Given the description of an element on the screen output the (x, y) to click on. 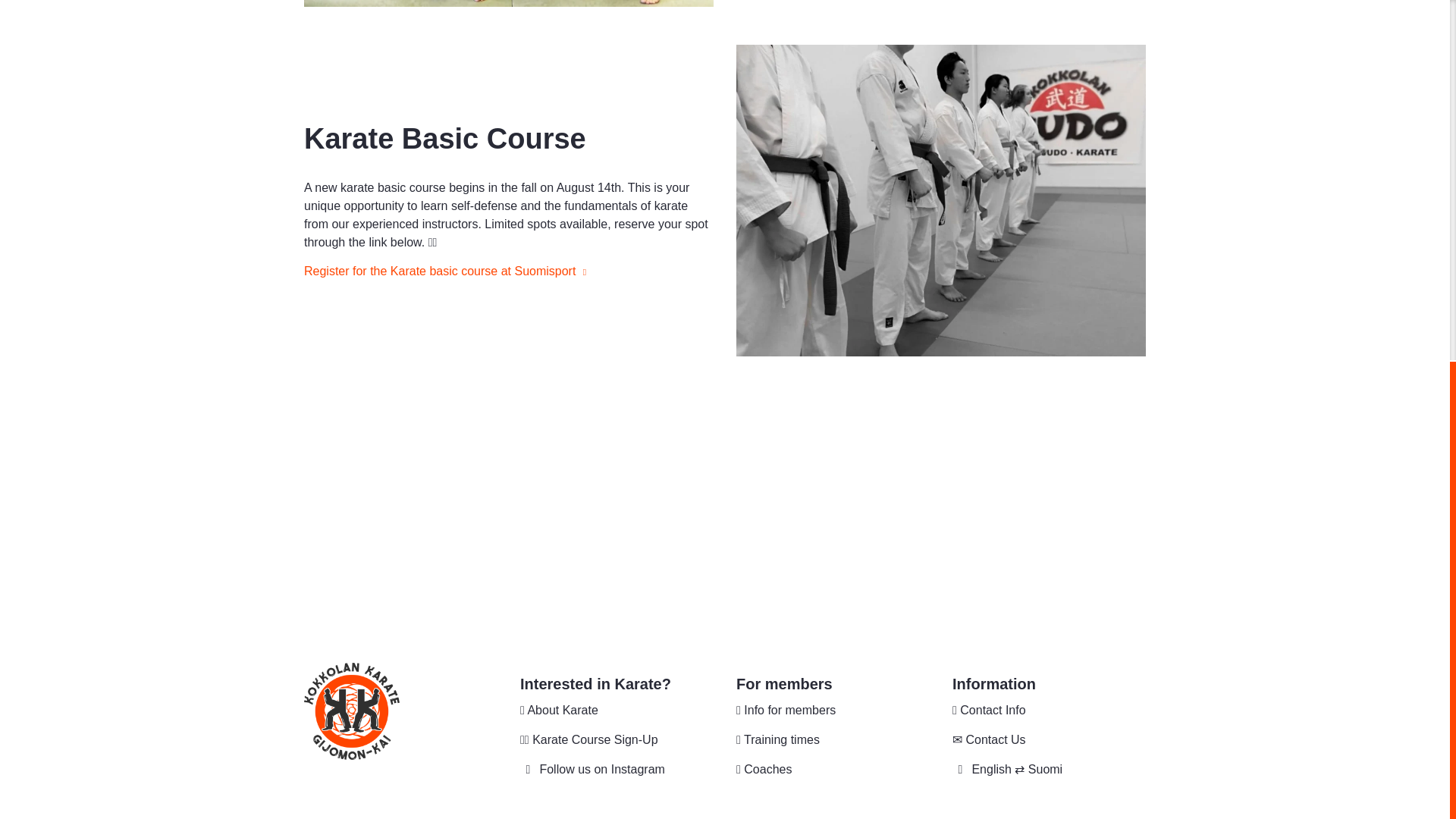
Register for the Karate basic course at Suomisport (445, 270)
Finnish (1048, 769)
register for the karate basic course (616, 739)
Follow us on Instagram (616, 769)
